Given the description of an element on the screen output the (x, y) to click on. 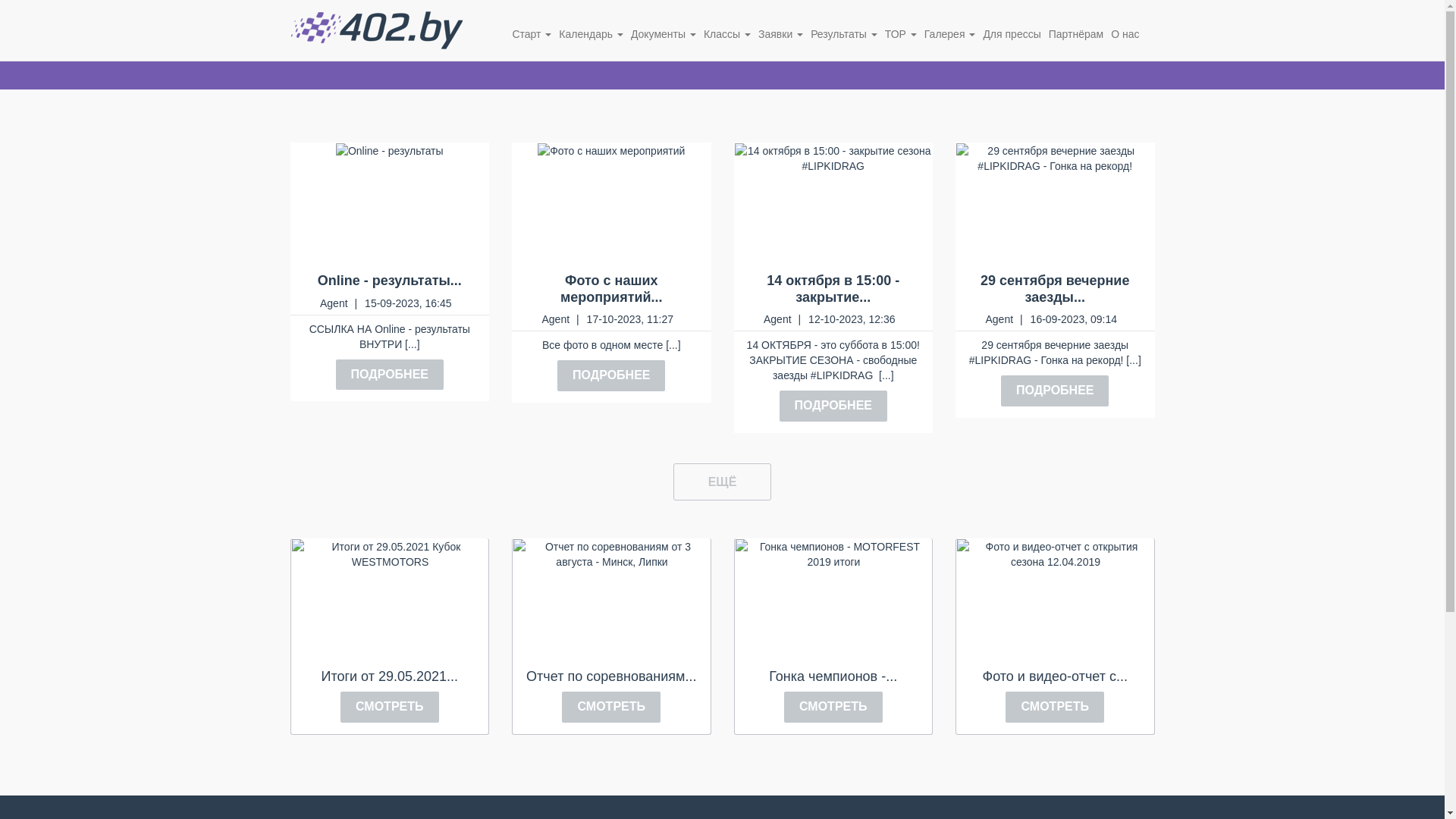
Agent Element type: text (777, 319)
Agent Element type: text (334, 303)
Agent Element type: text (555, 319)
Agent Element type: text (999, 319)
